Given the description of an element on the screen output the (x, y) to click on. 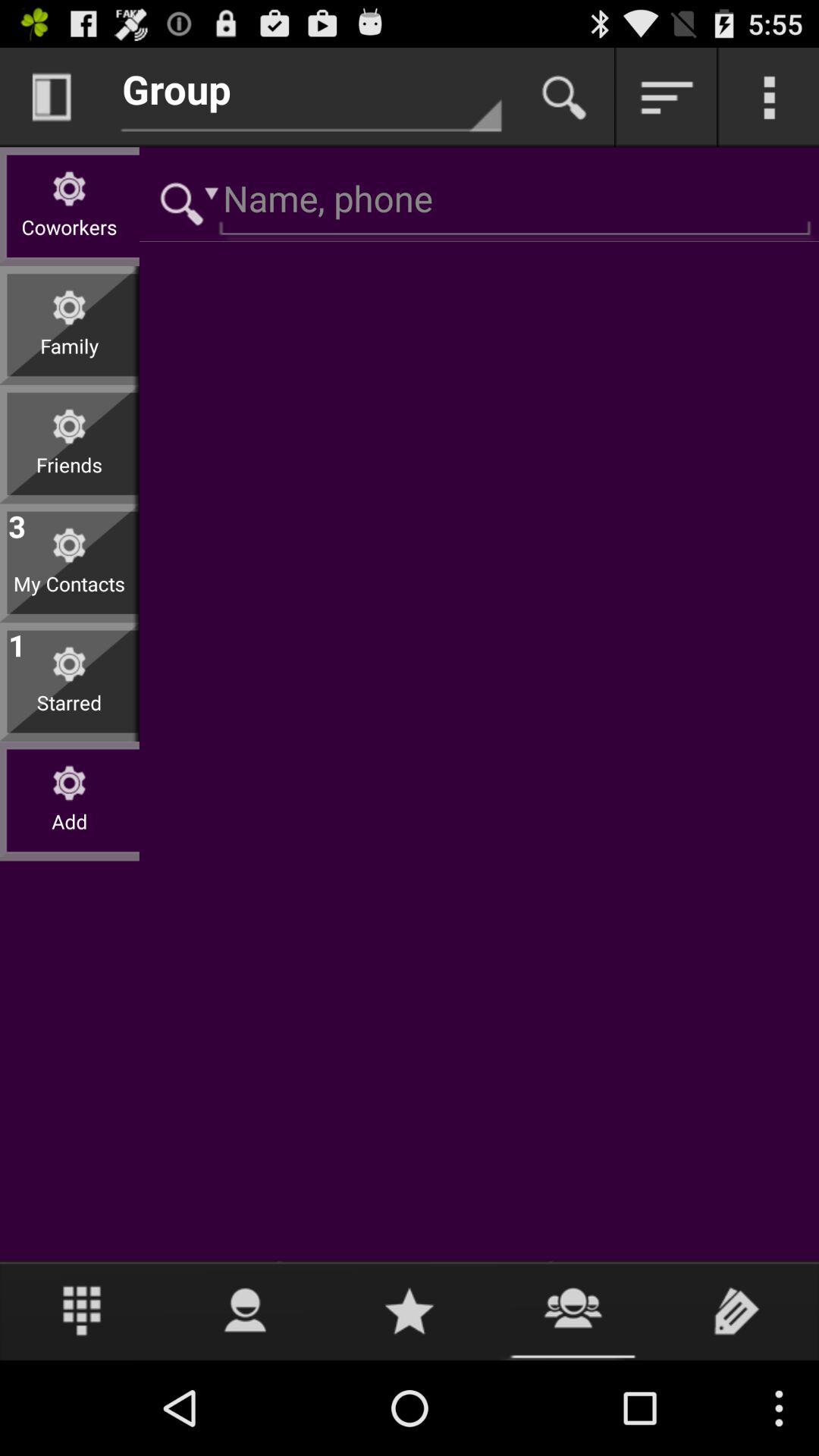
write text (737, 1310)
